Given the description of an element on the screen output the (x, y) to click on. 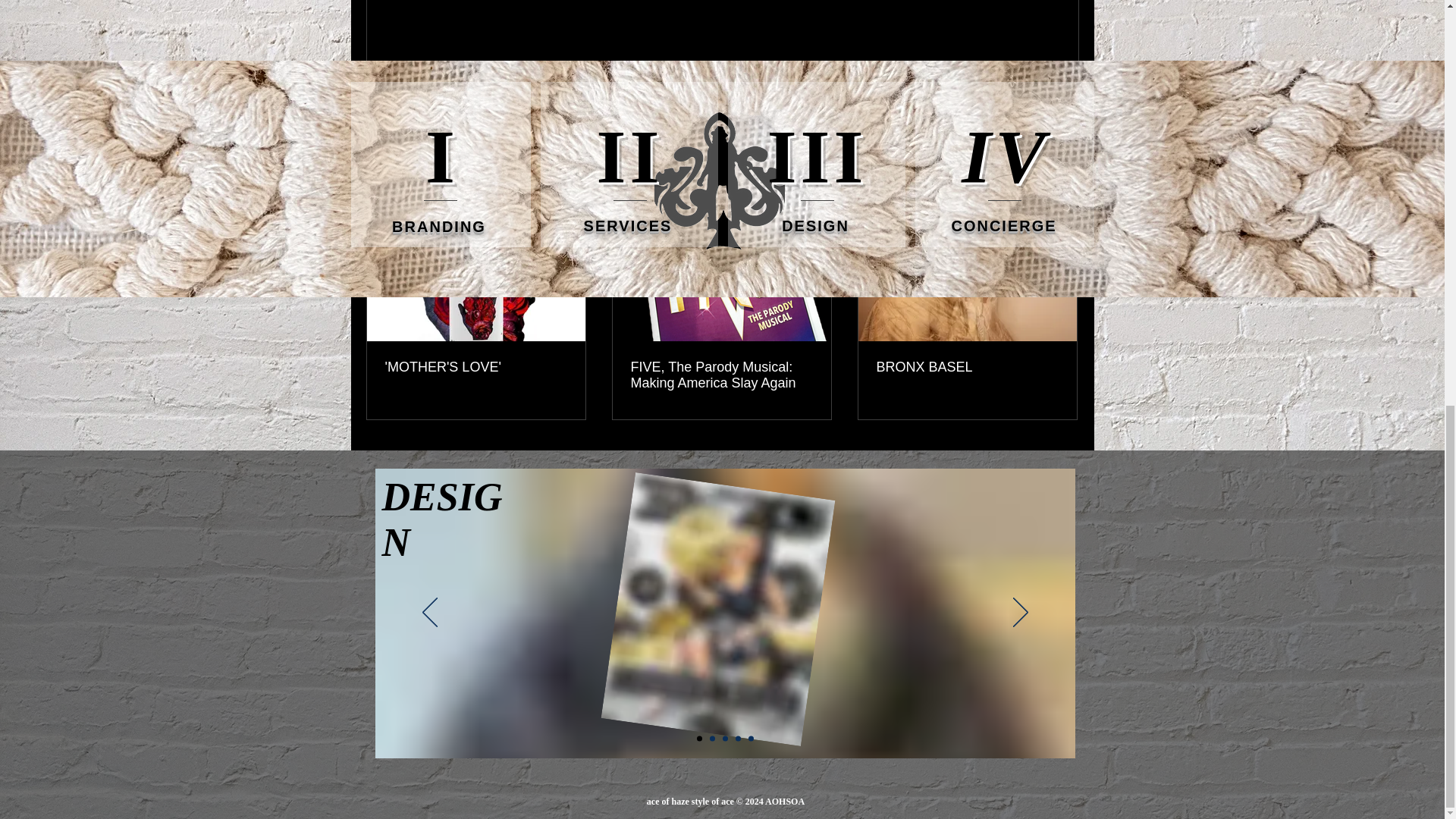
'MOTHER'S LOVE' (476, 367)
Fashion (934, 93)
Lauren styled x Armon Hayes (700, 596)
BRONX BASEL (967, 367)
Design (986, 93)
See All (1061, 191)
FIVE, The Parody Musical: Making America Slay Again (721, 375)
